Given the description of an element on the screen output the (x, y) to click on. 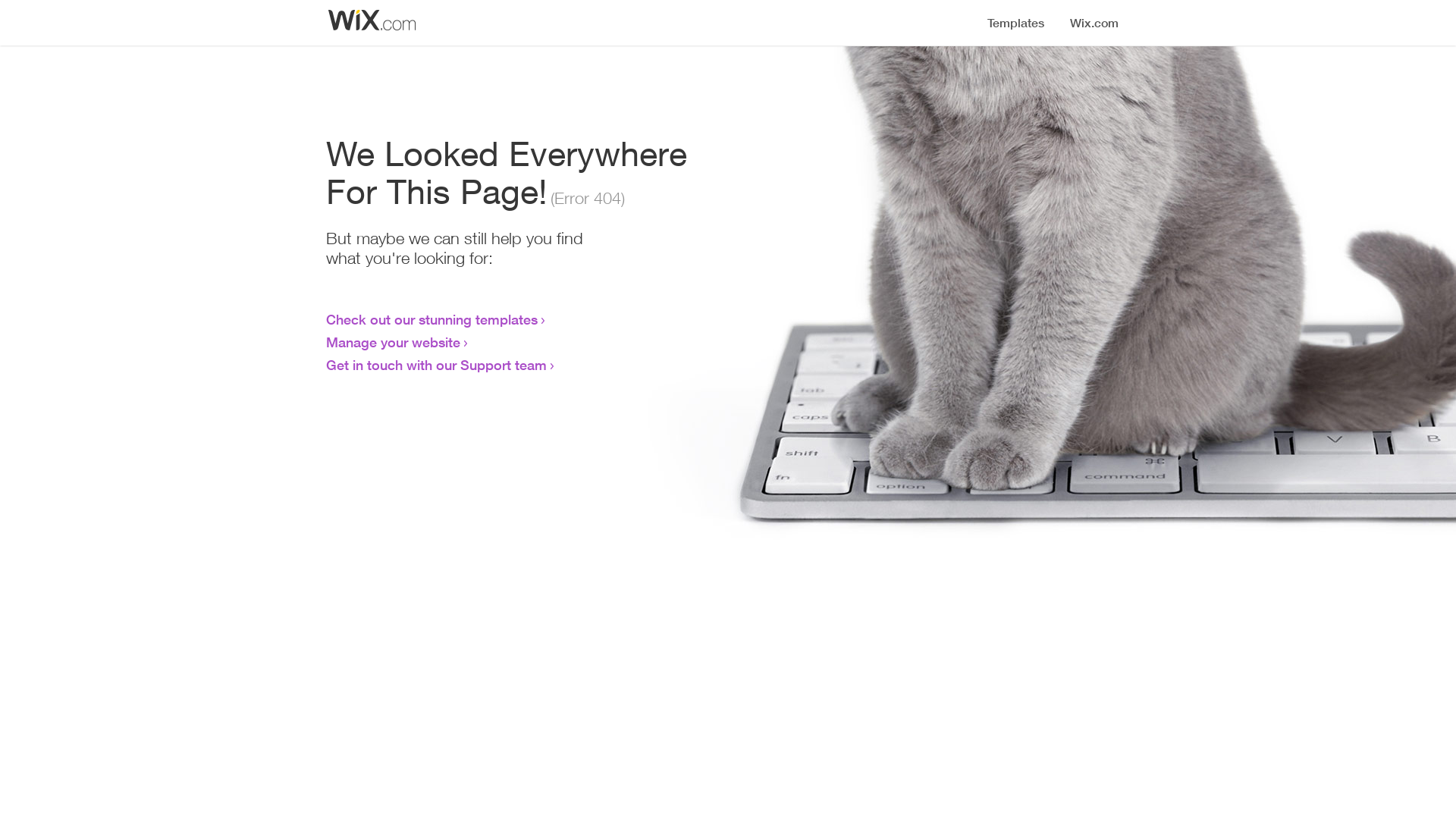
Get in touch with our Support team Element type: text (436, 364)
Check out our stunning templates Element type: text (431, 318)
Manage your website Element type: text (393, 341)
